Given the description of an element on the screen output the (x, y) to click on. 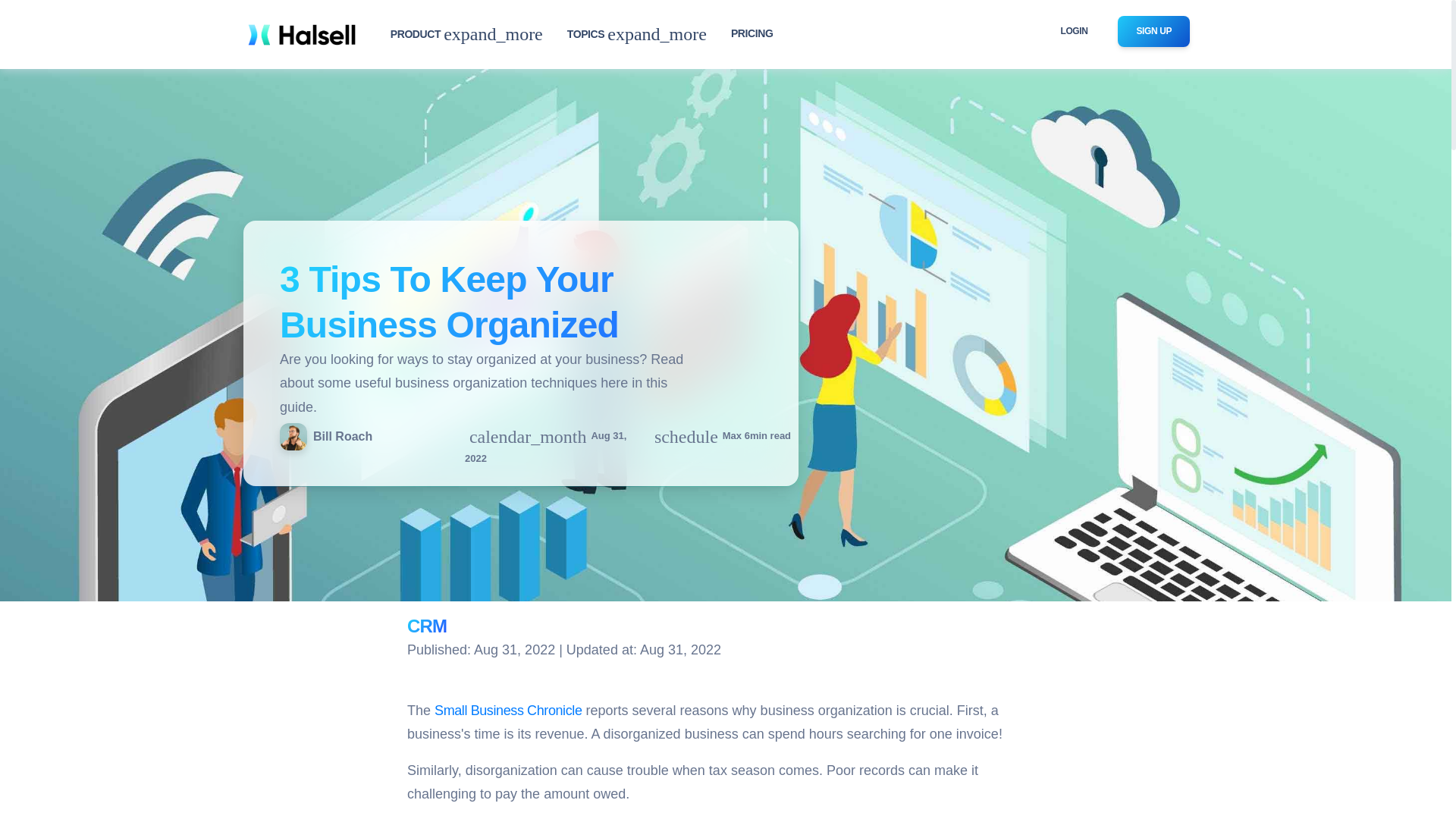
LOGIN (1073, 30)
Notifications (685, 436)
Notifications (527, 436)
PRICING (751, 32)
Small Business Chronicle (506, 709)
Halsell Logo (301, 34)
SIGN UP (1153, 30)
